Given the description of an element on the screen output the (x, y) to click on. 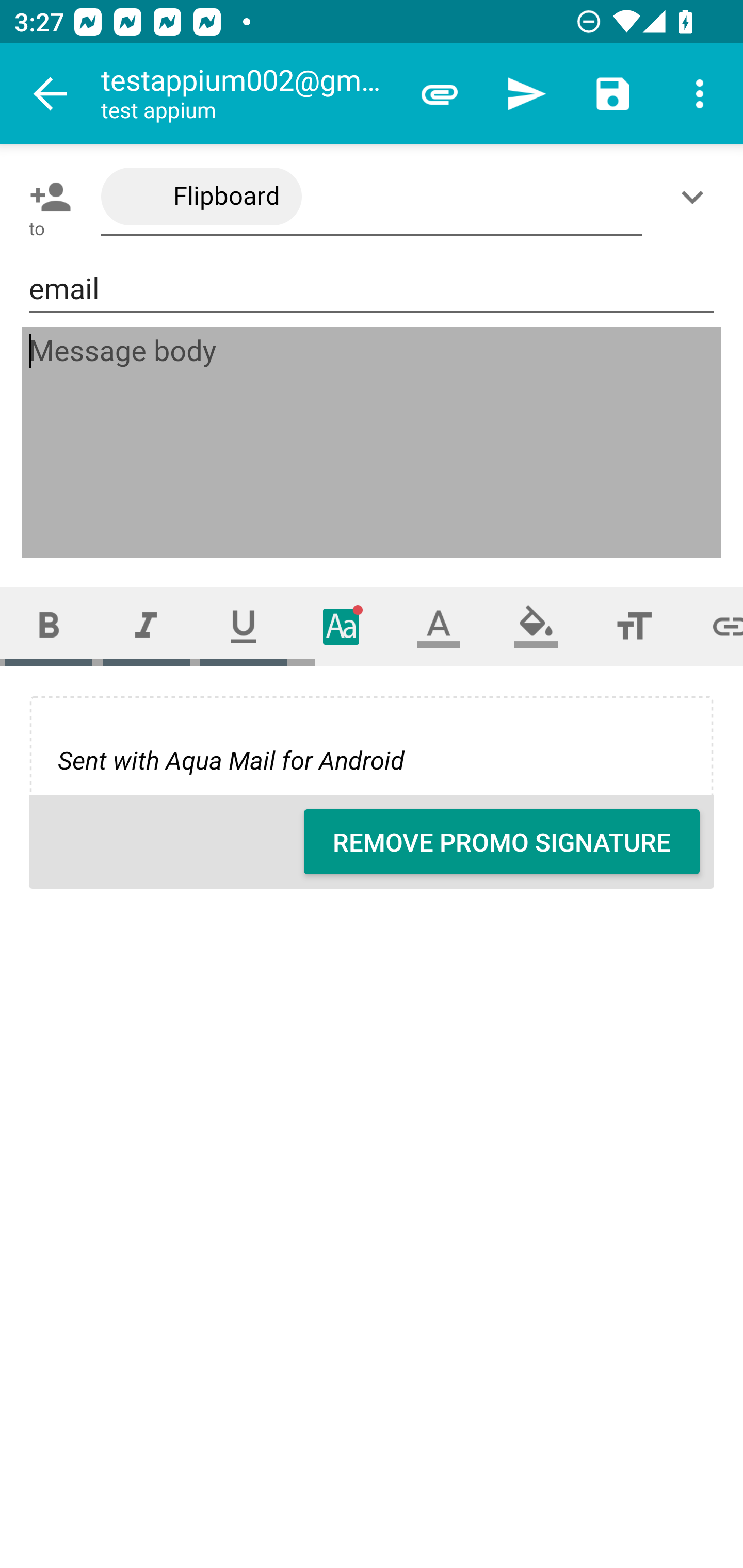
Navigate up (50, 93)
testappium002@gmail.com test appium (248, 93)
Attach (439, 93)
Send (525, 93)
Save (612, 93)
More options (699, 93)
Flipboard <editorialstaff@flipboard.com>,  (371, 197)
Pick contact: To (46, 196)
Show/Add CC/BCC (696, 196)
email (371, 288)
Message body (372, 442)
Bold (48, 626)
Italic (145, 626)
Underline (243, 626)
Typeface (font) (341, 626)
Text color (438, 626)
Fill color (536, 626)
Font size (633, 626)
REMOVE PROMO SIGNATURE (501, 841)
